Given the description of an element on the screen output the (x, y) to click on. 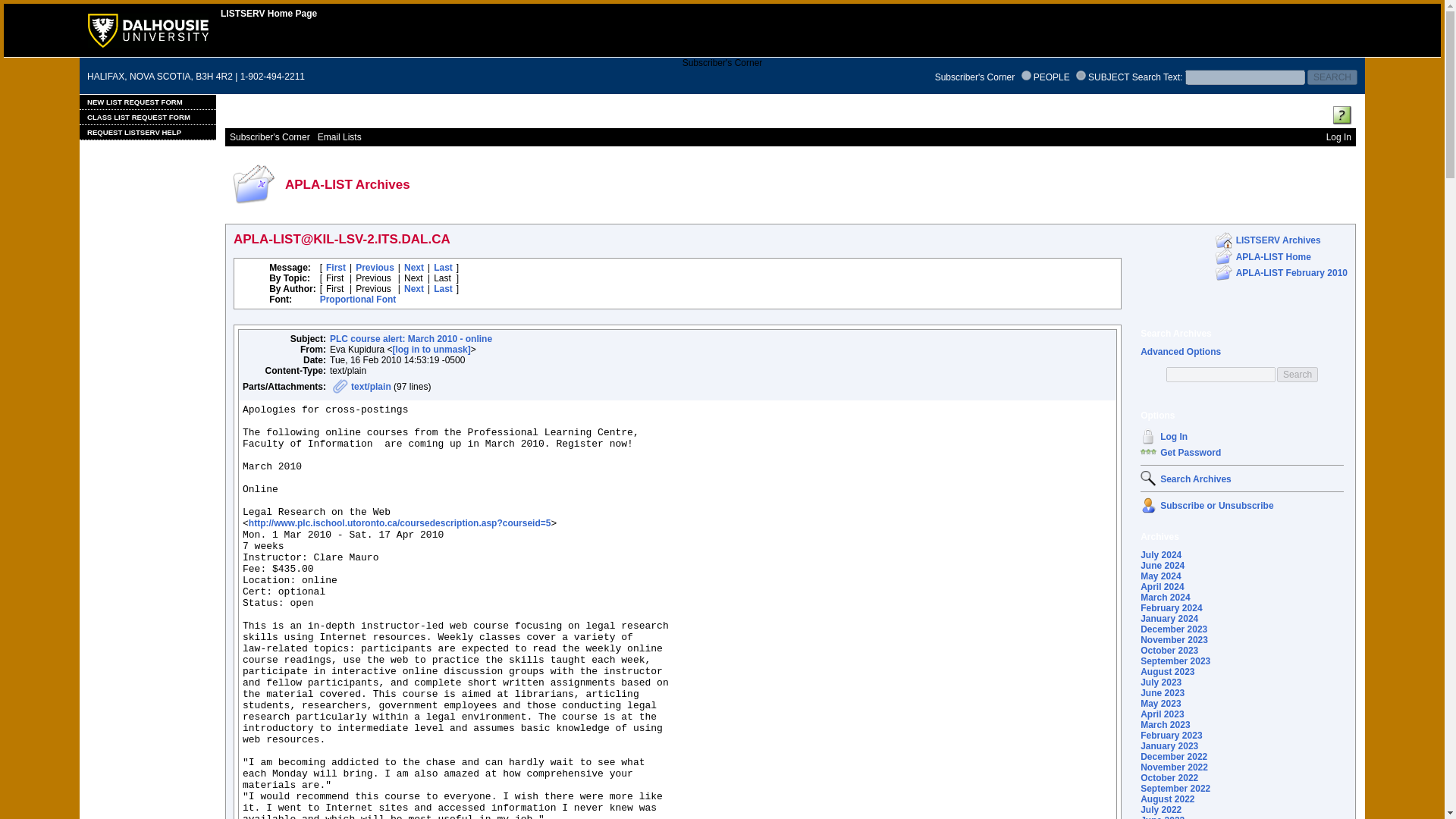
Next (413, 267)
NEW LIST REQUEST FORM (147, 102)
REQUEST LISTSERV HELP (147, 132)
APLA-LIST February 2010 (1292, 271)
Help for APLA-LIST Archives (1342, 115)
Last (442, 288)
Last (442, 267)
Subscribe or Unsubscribe (1148, 505)
on (1080, 75)
Log In (1148, 436)
LISTSERV Archives (1278, 240)
Get Password (1190, 452)
APLA-LIST  February 2010 (1223, 272)
Search (1296, 374)
Previous (374, 267)
